Given the description of an element on the screen output the (x, y) to click on. 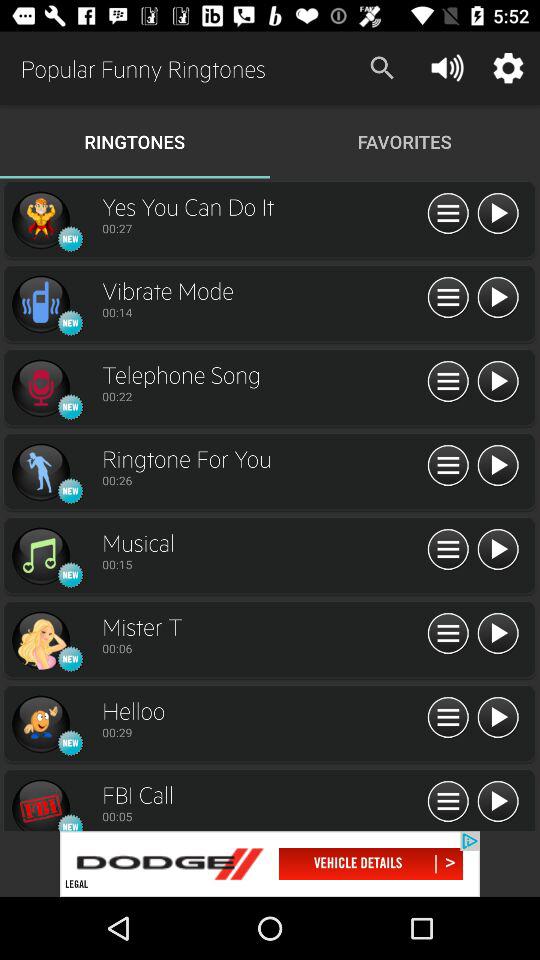
set this as my ringtone (40, 472)
